Given the description of an element on the screen output the (x, y) to click on. 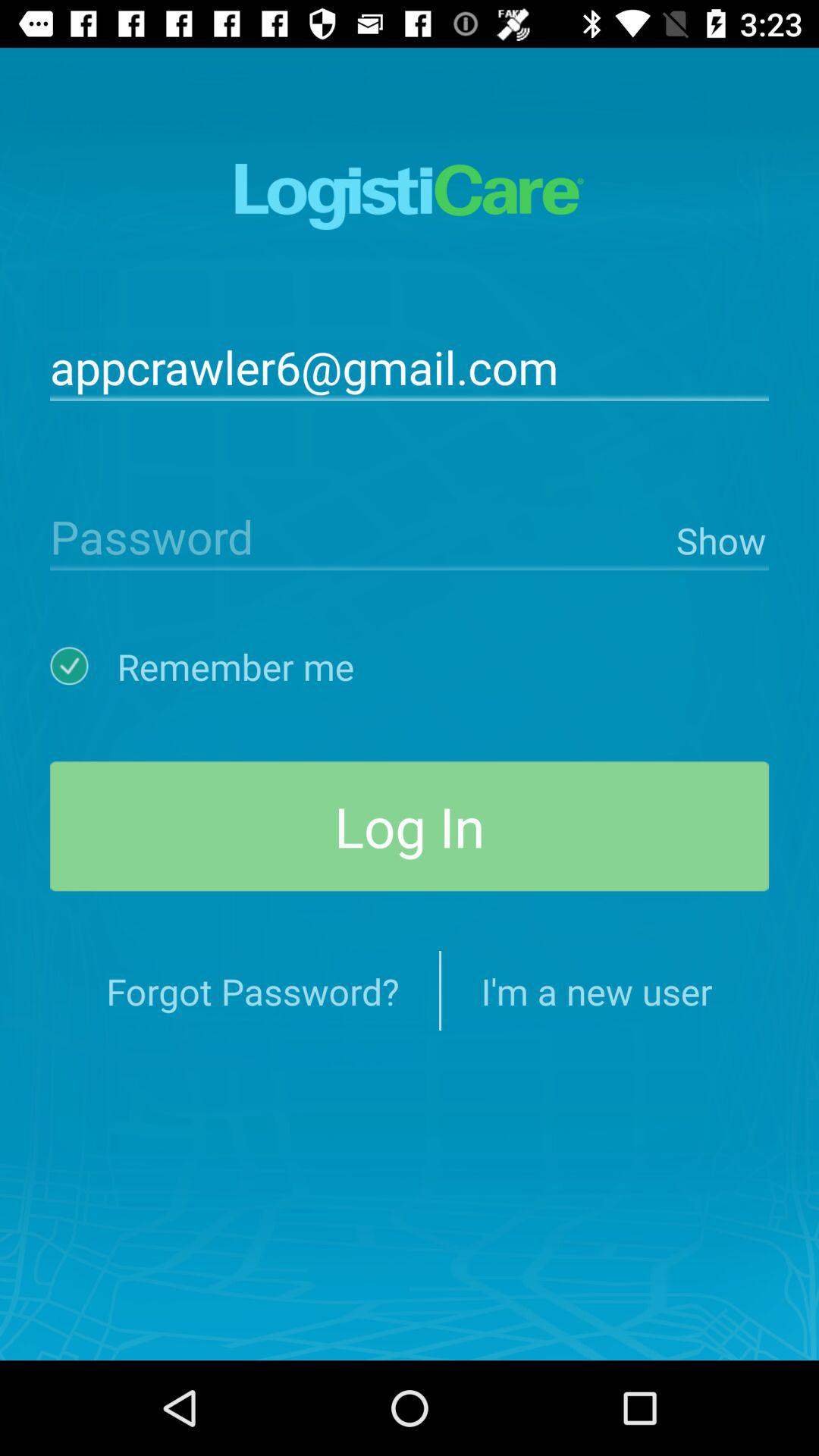
select item below log in item (252, 990)
